Given the description of an element on the screen output the (x, y) to click on. 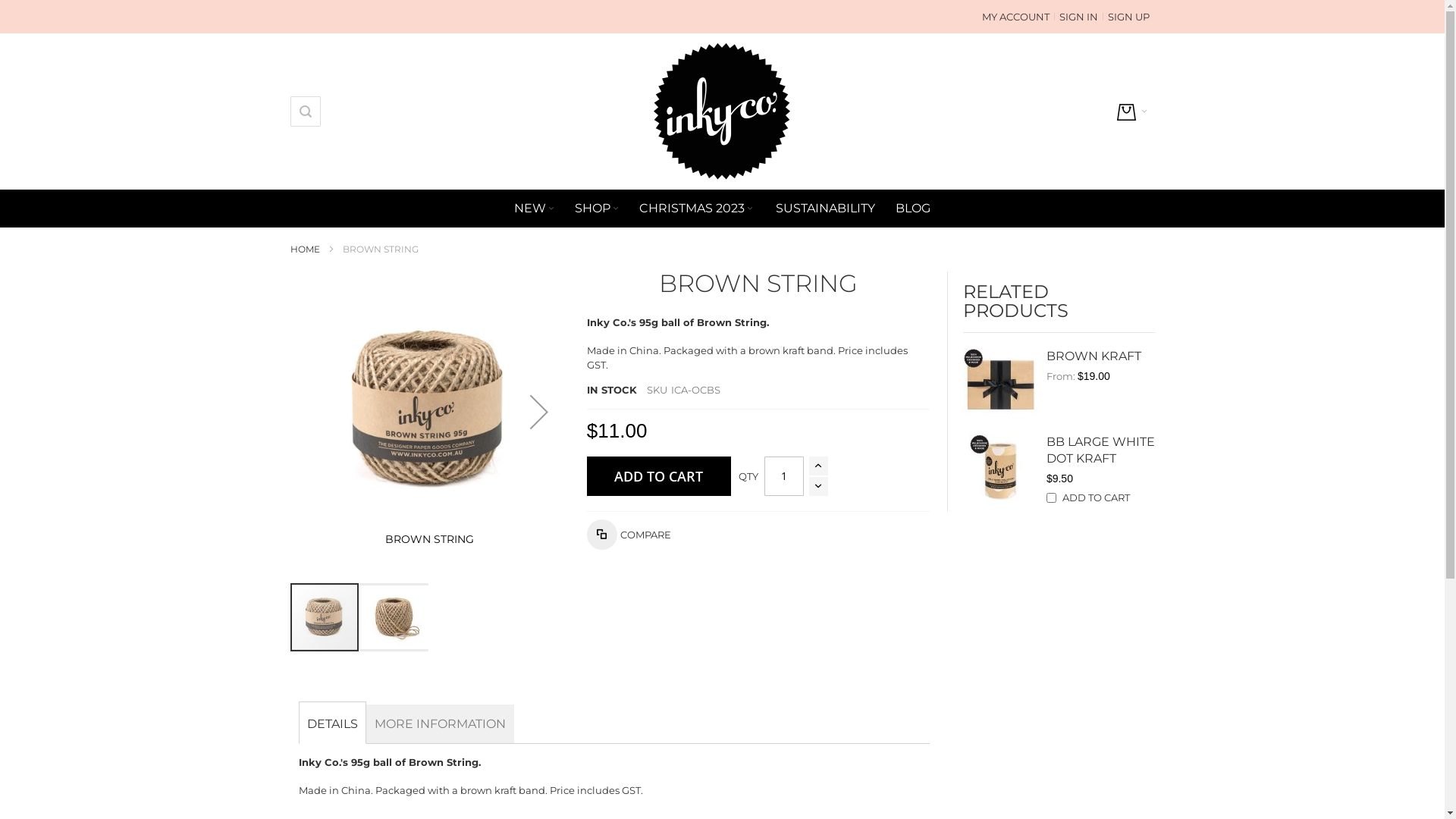
MORE INFORMATION Element type: text (440, 723)
INKY CO. Element type: hover (721, 111)
HOME Element type: text (304, 248)
COMPARE Element type: text (628, 534)
NEW Element type: text (535, 208)
SUSTAINABILITY Element type: text (825, 208)
MY ACCOUNT Element type: text (1015, 16)
SIGN IN Element type: text (1078, 16)
Qty Element type: hover (783, 475)
BLOG Element type: text (912, 208)
BROWN KRAFT Element type: text (1093, 355)
SHOP Element type: text (597, 208)
CHRISTMAS 2023 Element type: text (697, 208)
Search Element type: hover (305, 111)
ADD TO CART Element type: text (658, 475)
BB LARGE WHITE DOT KRAFT Element type: text (1100, 449)
DETAILS Element type: text (332, 722)
SIGN UP Element type: text (1128, 16)
